Given the description of an element on the screen output the (x, y) to click on. 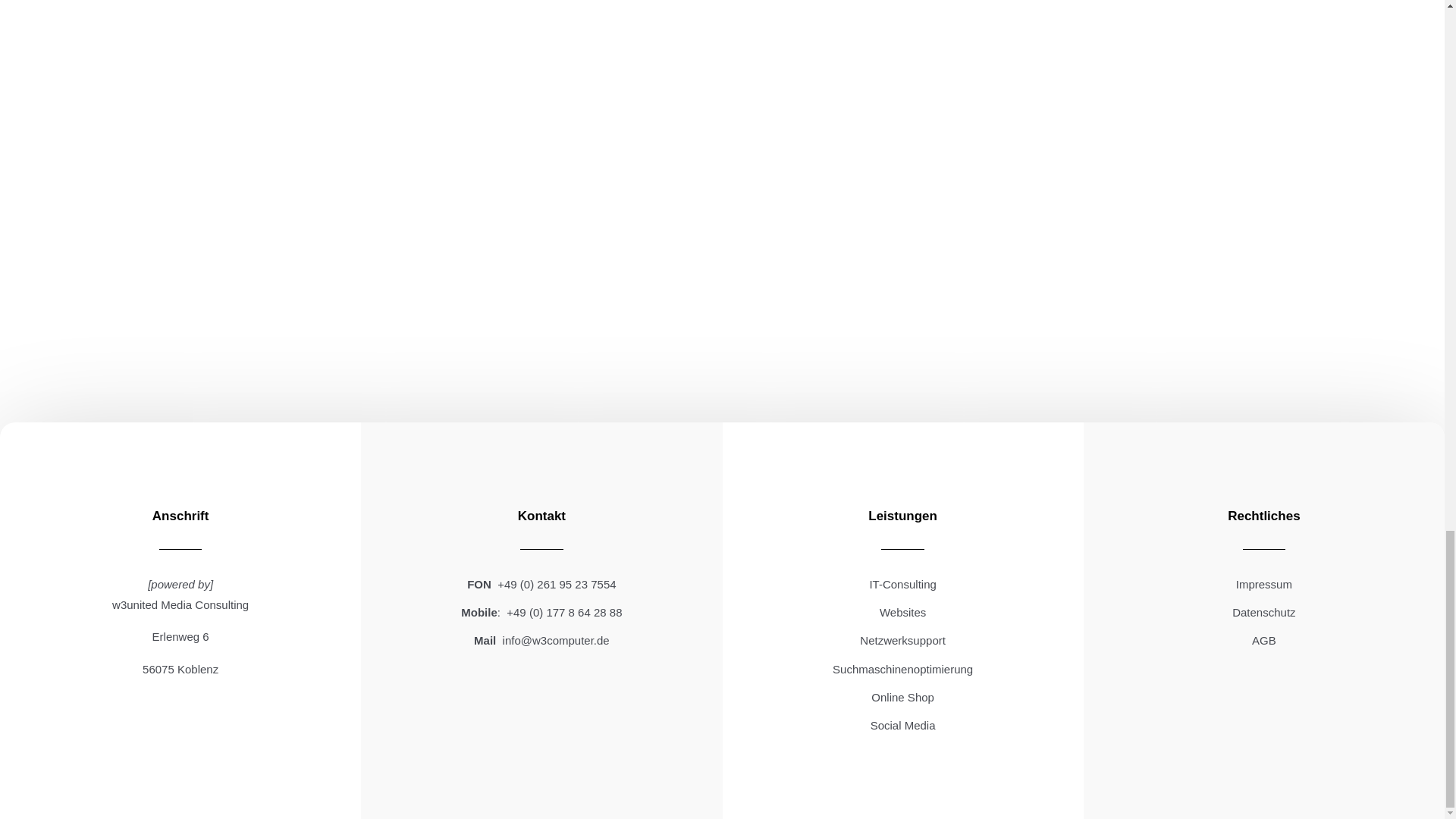
Webdesign Typo3 (902, 612)
Netzwerksupport (902, 640)
IT Beratung Koblenz (902, 584)
